Given the description of an element on the screen output the (x, y) to click on. 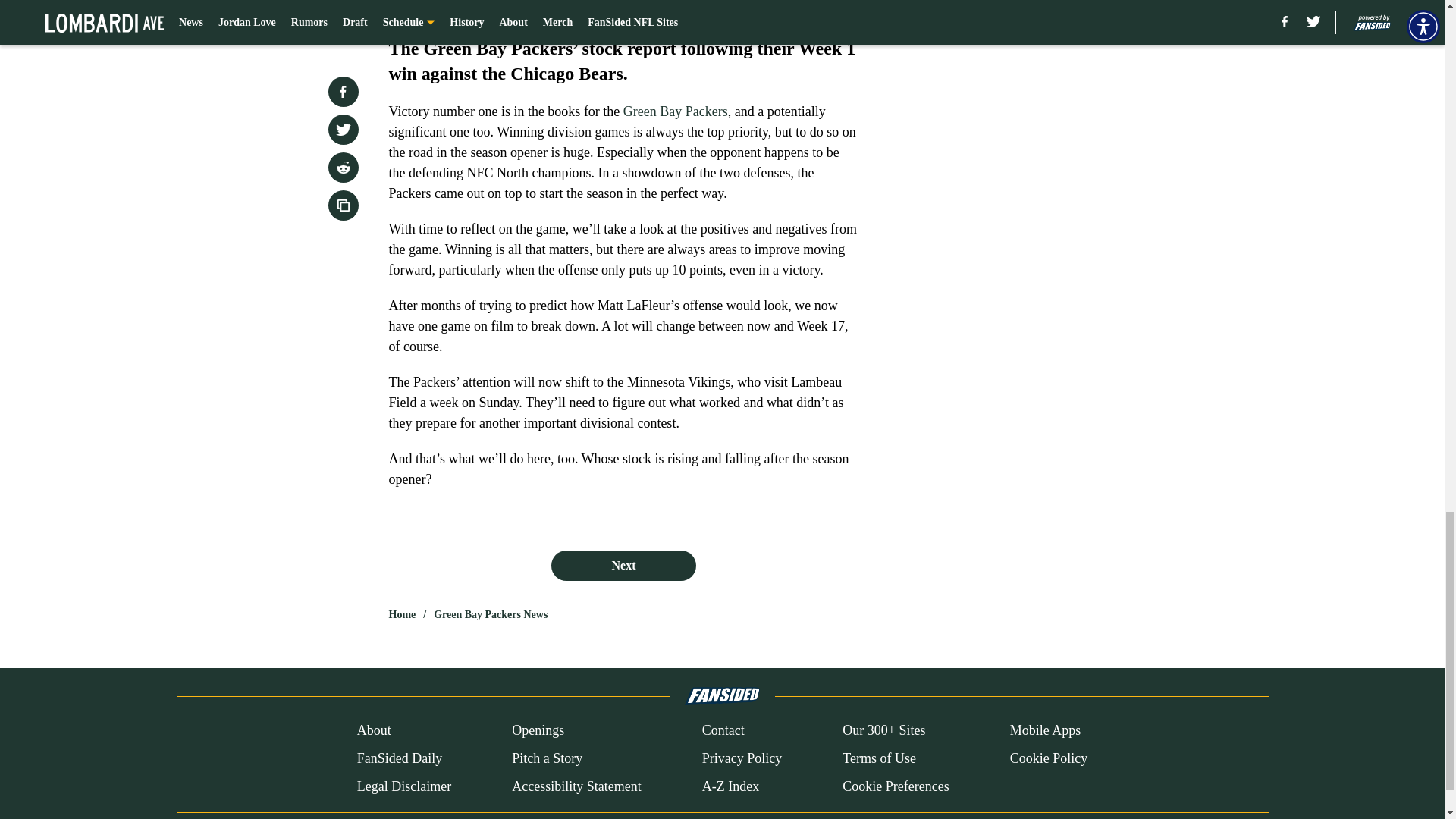
Mobile Apps (1045, 730)
Green Bay Packers News (490, 614)
Green Bay Packers (675, 111)
Privacy Policy (742, 758)
FanSided Daily (399, 758)
Home (401, 614)
Next (622, 565)
Openings (538, 730)
About (373, 730)
Pitch a Story (547, 758)
